Given the description of an element on the screen output the (x, y) to click on. 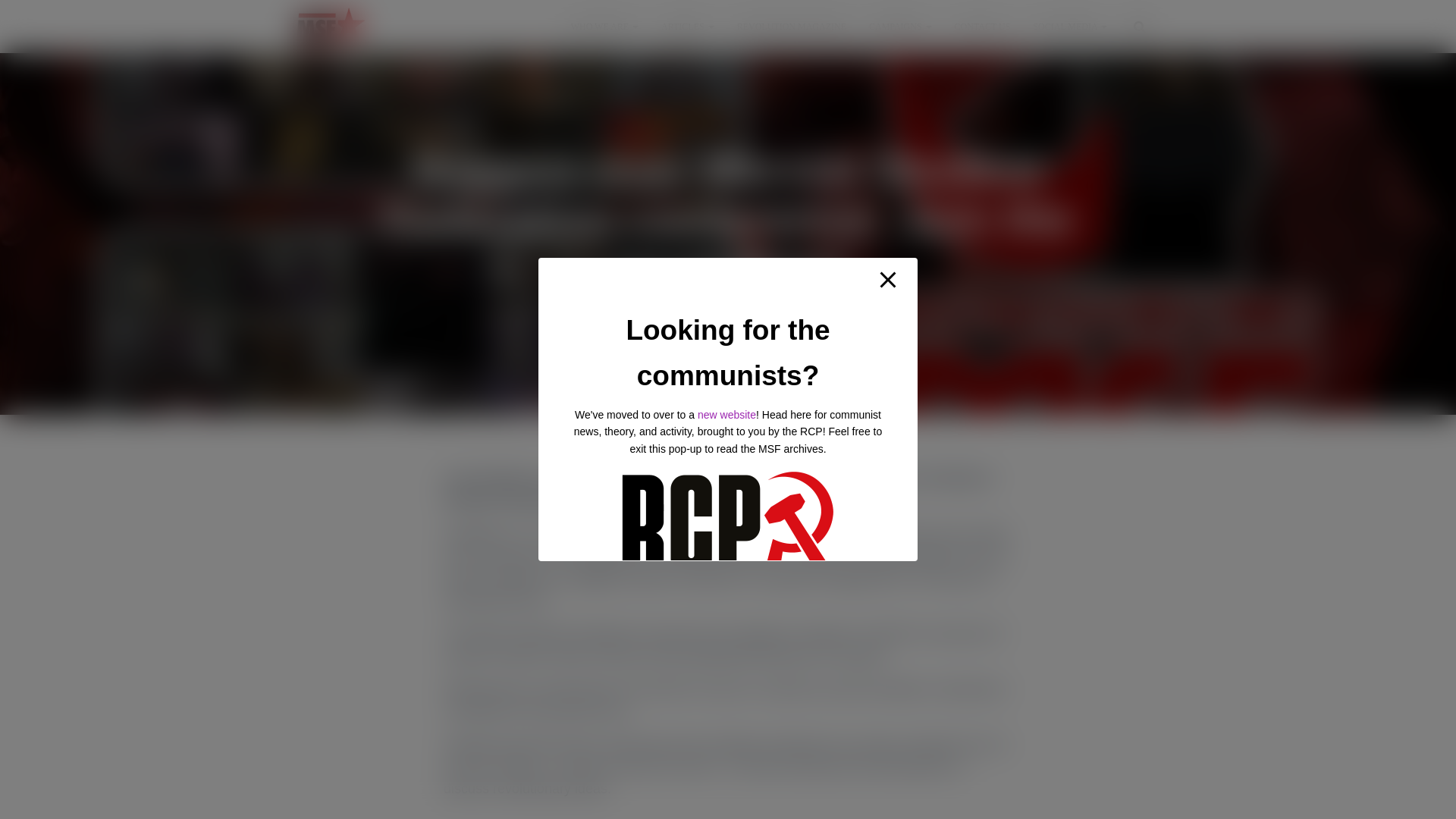
SOCIAL MEDIA (1070, 26)
REVOLUTION MAGAZINE (791, 26)
Articles (687, 26)
CAMPAIGNS (900, 26)
WHO WE ARE (604, 26)
ARTICLES (687, 26)
Who we are (604, 26)
CONTACT US (982, 26)
Marxist Student Federation (330, 26)
